Given the description of an element on the screen output the (x, y) to click on. 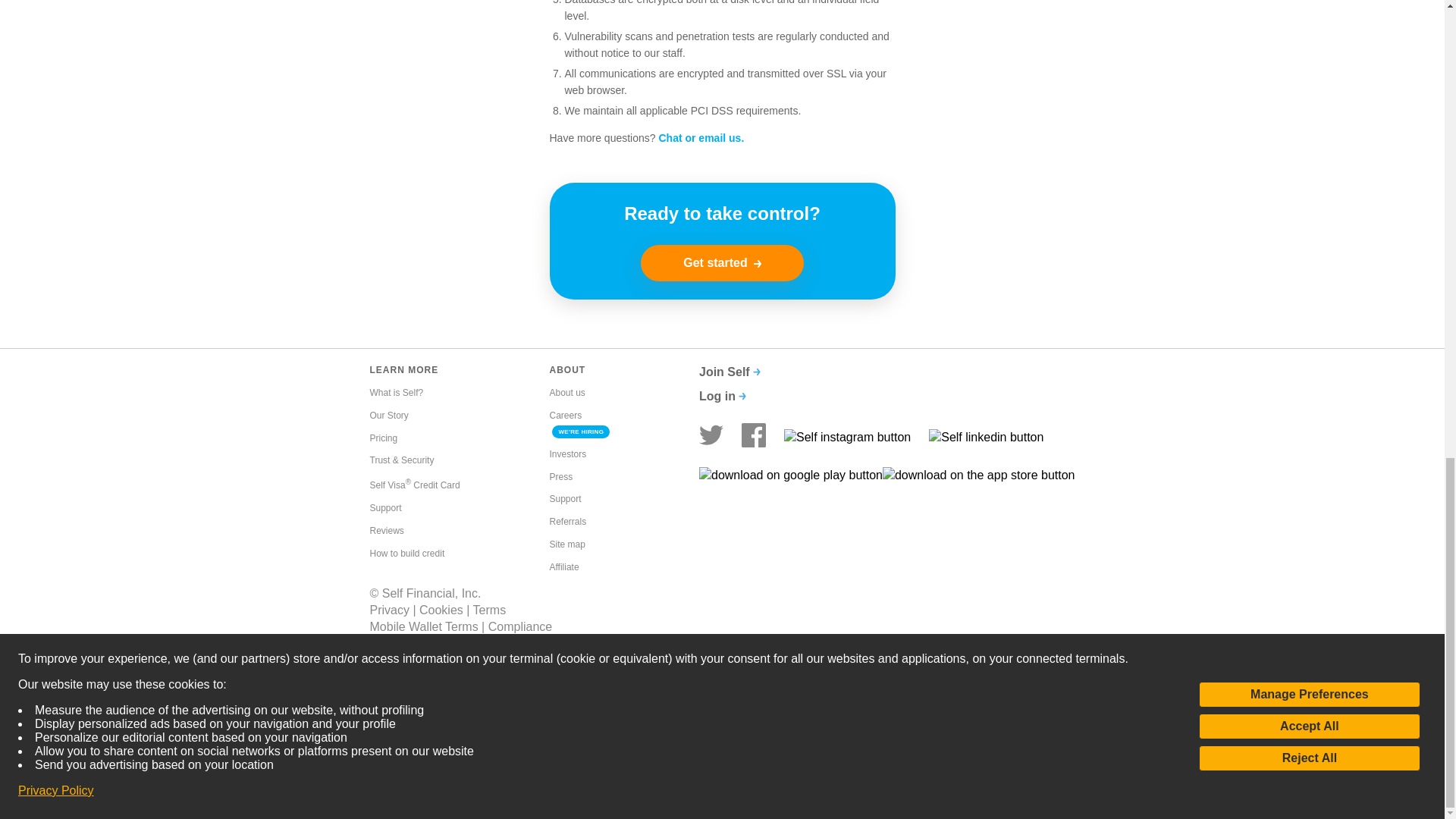
What is Self? (396, 392)
Pricing (383, 438)
Press (560, 477)
Reviews (386, 530)
Support (385, 508)
Our Story (389, 415)
Chat or email us. (701, 137)
How to build credit (407, 553)
Careers (564, 415)
About us (566, 392)
